Given the description of an element on the screen output the (x, y) to click on. 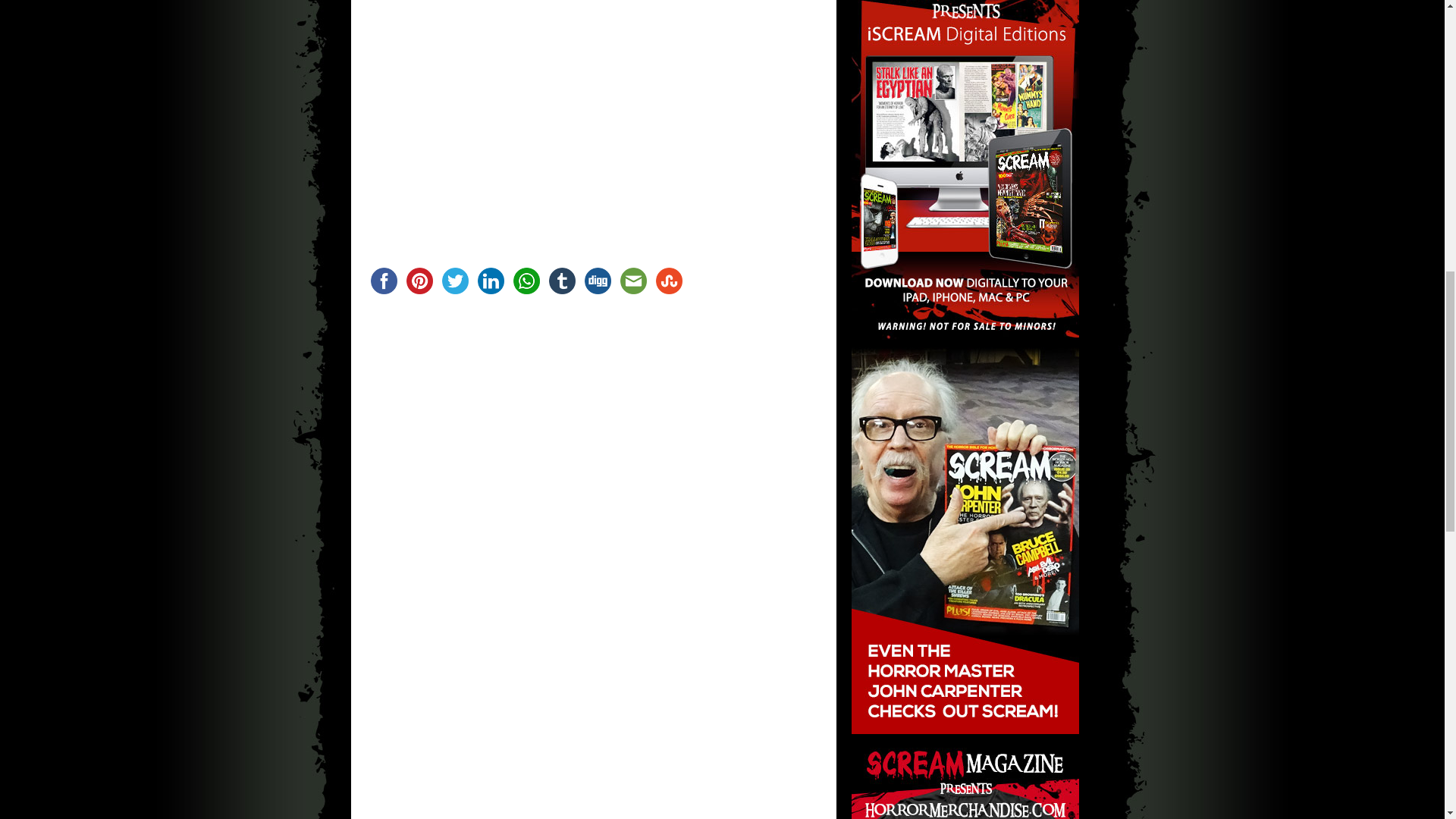
twitter (453, 280)
linkedin (490, 280)
whatsapp (525, 280)
pinterest (419, 280)
facebook (383, 280)
tumblr (561, 280)
diggit (596, 280)
stumbleupon (667, 280)
email (632, 280)
